Given the description of an element on the screen output the (x, y) to click on. 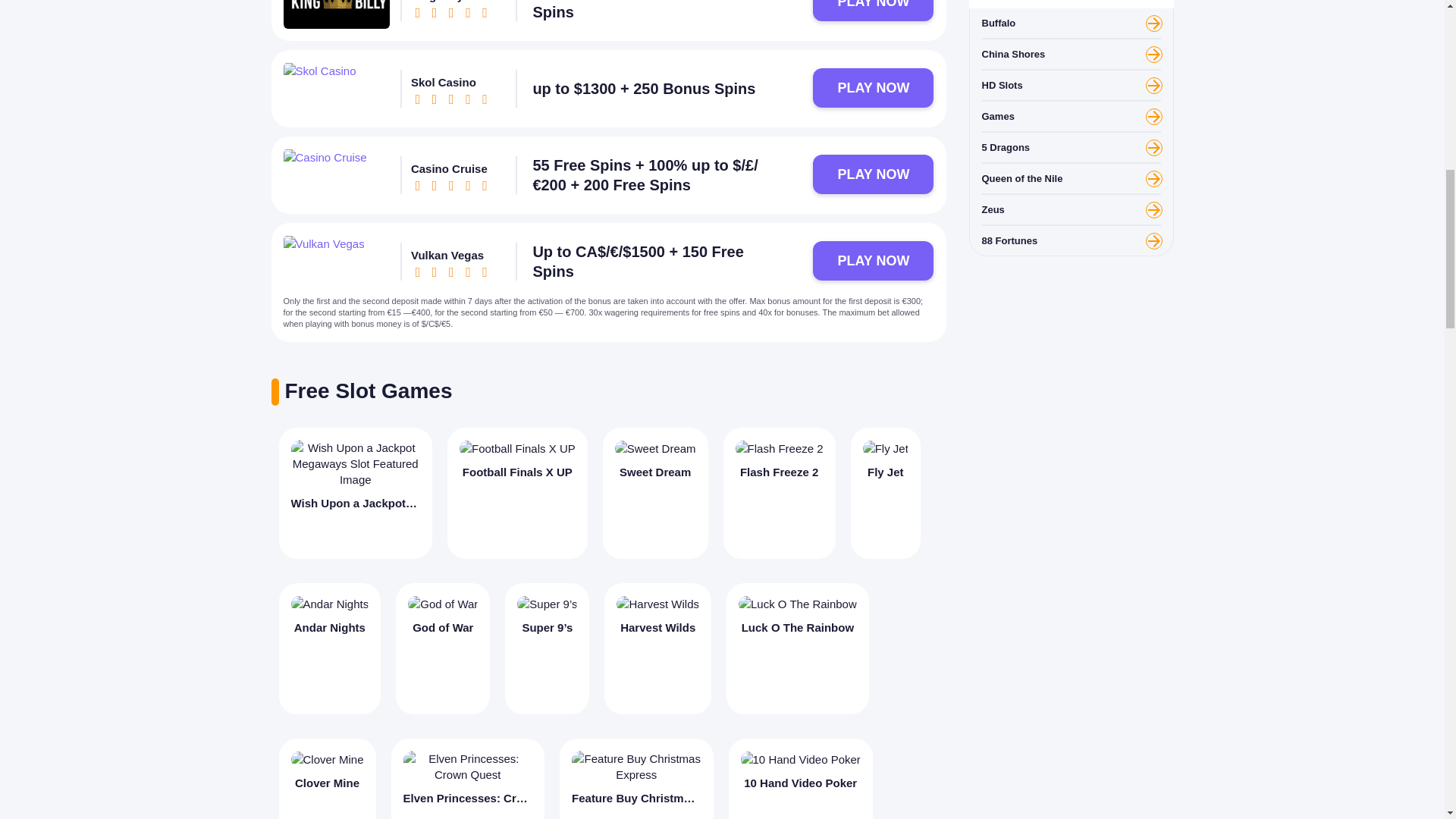
Andar-Nights (330, 603)
Wish Upon a Jackpot Megaways Slot Featured Image (355, 463)
Sweet-Dream (654, 448)
Fly-Jet (885, 448)
God-of-War (442, 603)
Wish Upon a Jackpot Megaways (355, 492)
Football-Finals-X-UP (517, 448)
Flash-Freeze-2 (779, 448)
Football Finals X UP (517, 492)
Super-9s (546, 603)
